Given the description of an element on the screen output the (x, y) to click on. 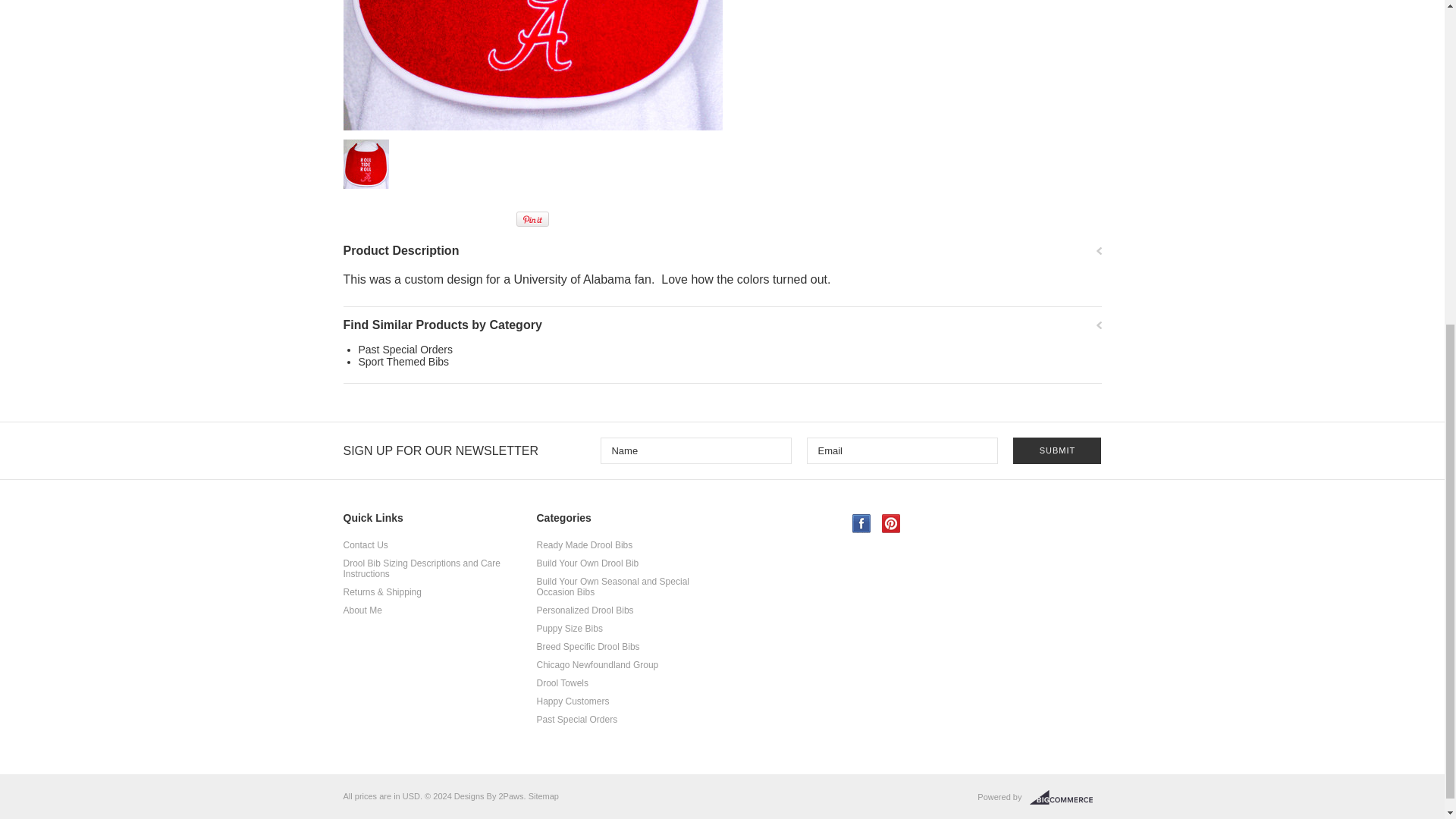
Image 1 (532, 65)
Email (901, 450)
Pinterest (889, 523)
US Dollars (411, 795)
Name (695, 450)
Submit (1056, 450)
Facebook (860, 523)
